Given the description of an element on the screen output the (x, y) to click on. 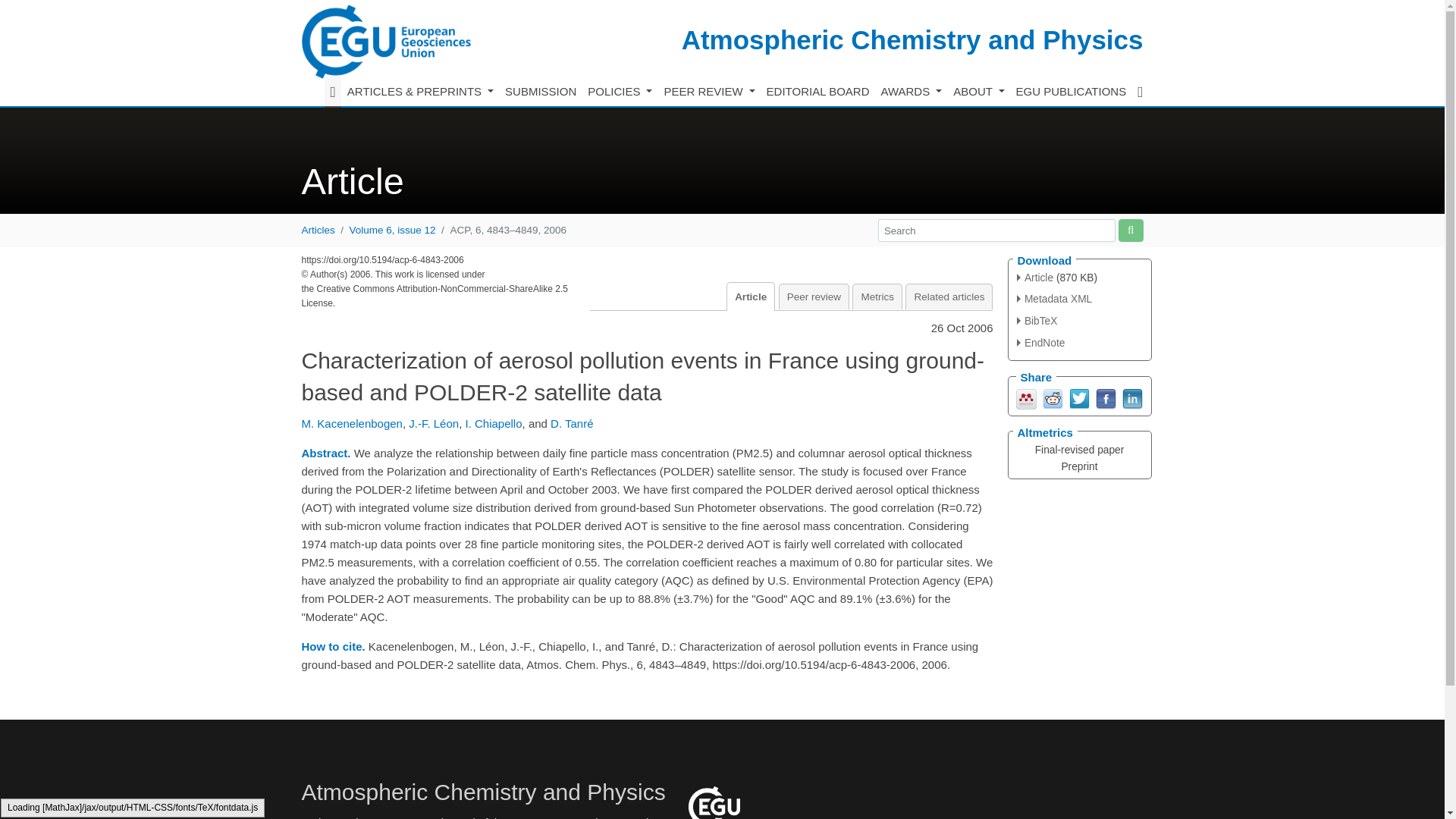
Mendeley (1026, 397)
Atmospheric Chemistry and Physics (911, 39)
Start site search (1130, 229)
Facebook (1104, 397)
Reddit (1052, 397)
XML Version (1054, 298)
Twitter (1078, 397)
SUBMISSION (540, 91)
POLICIES (620, 91)
